Given the description of an element on the screen output the (x, y) to click on. 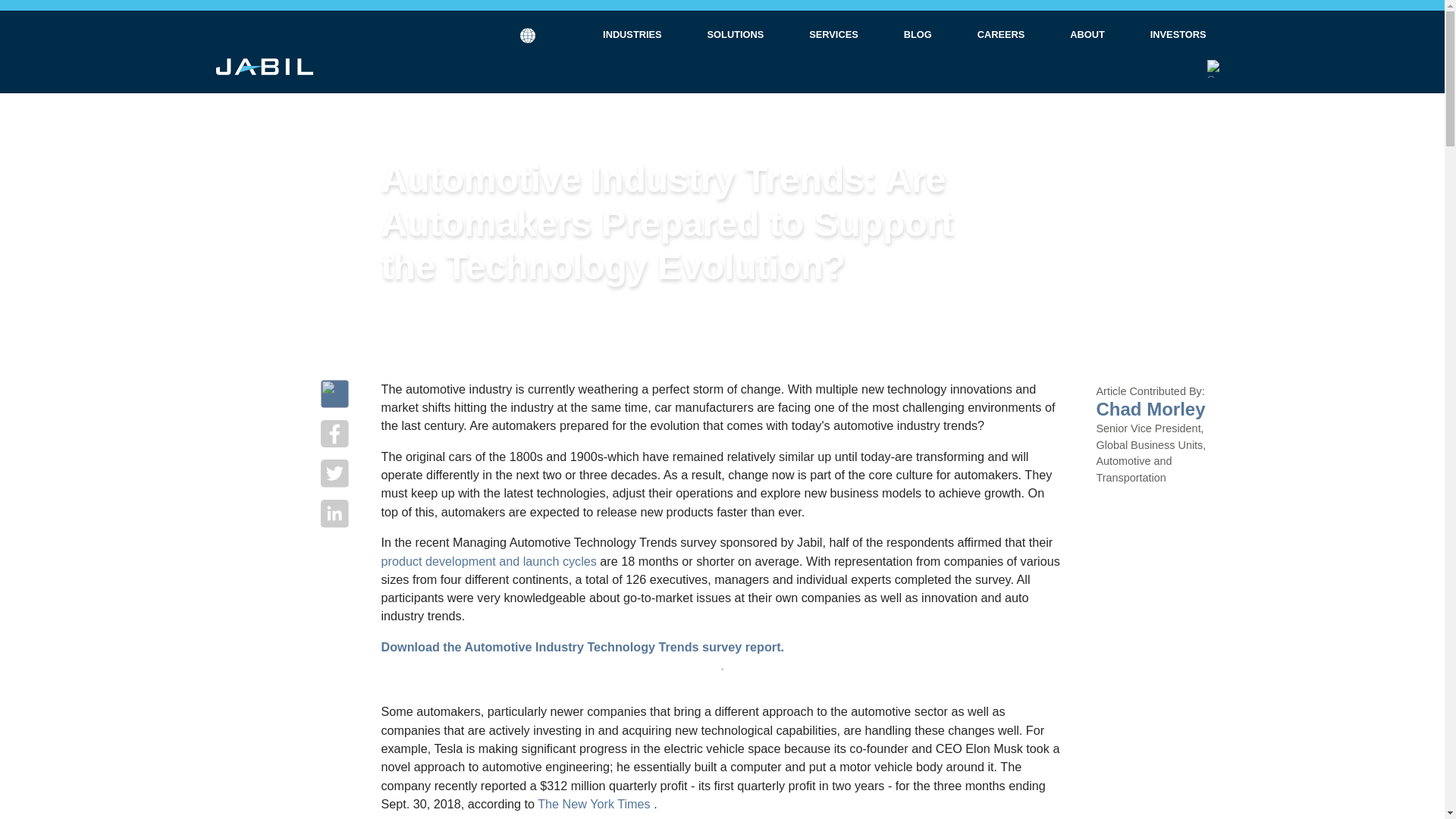
Solutions (735, 35)
SERVICES (833, 35)
Industries (631, 35)
Industries (632, 34)
INDUSTRIES (631, 35)
SOLUTIONS (735, 35)
